Given the description of an element on the screen output the (x, y) to click on. 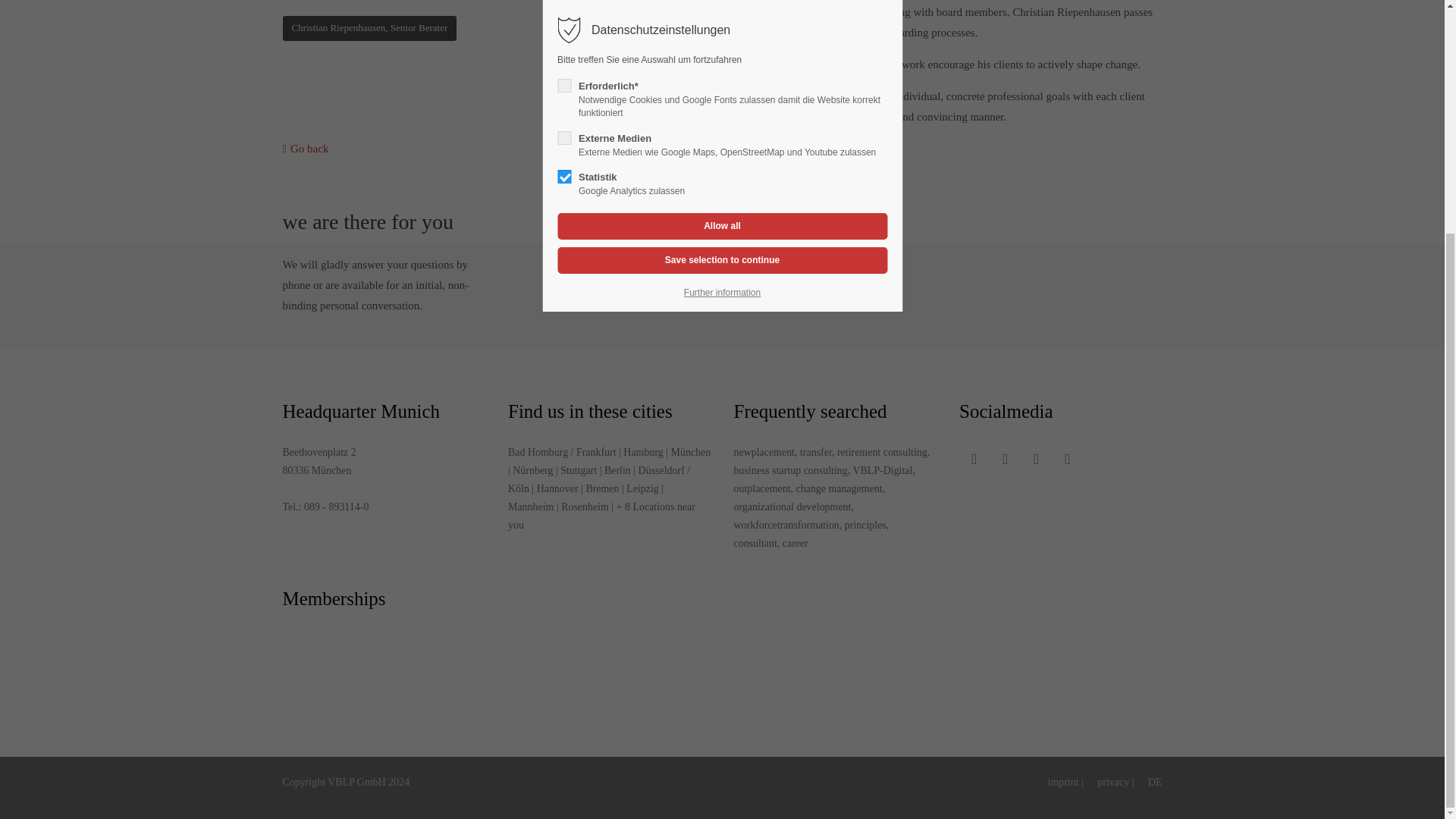
Stuttgart (578, 470)
Mannheim (530, 506)
Berlin (617, 470)
Bremen (601, 488)
Rosenheim (584, 506)
Hamburg (642, 451)
Leipzig (642, 488)
Hannover (557, 488)
Go back (305, 148)
